Given the description of an element on the screen output the (x, y) to click on. 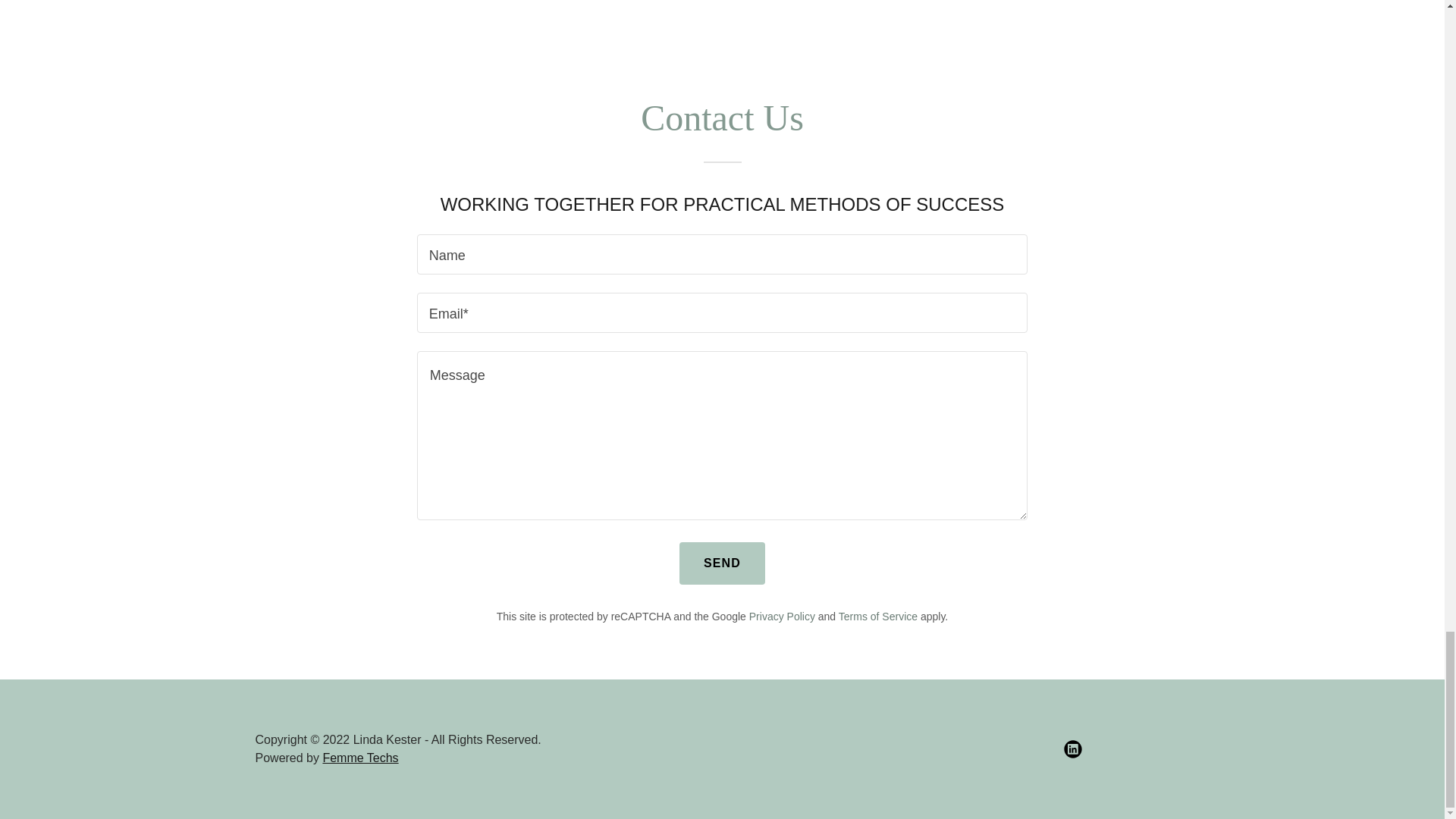
Privacy Policy (782, 616)
Terms of Service (877, 616)
SEND (722, 563)
Femme Techs (359, 757)
